Given the description of an element on the screen output the (x, y) to click on. 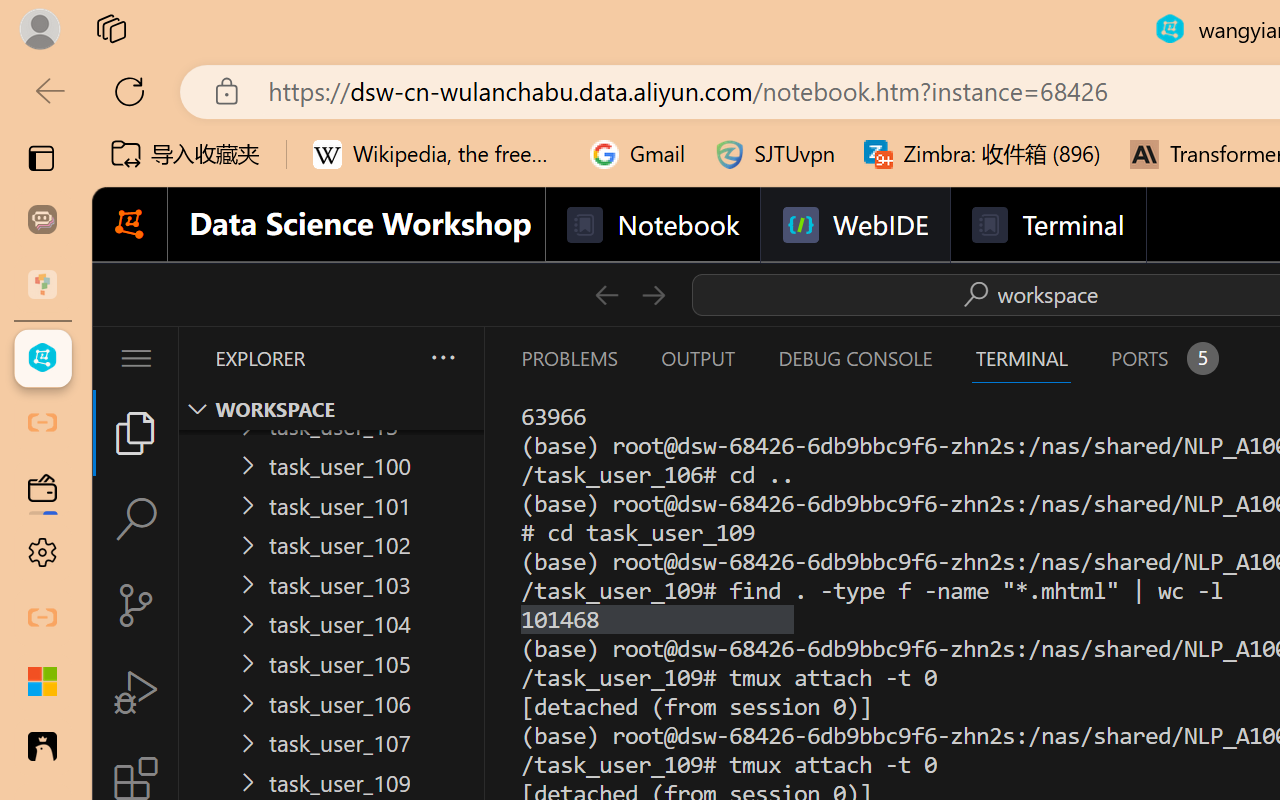
Explorer actions (390, 358)
Ports - 5 forwarded ports (1162, 358)
Views and More Actions... (442, 357)
Go Back (Alt+LeftArrow) (605, 294)
